Given the description of an element on the screen output the (x, y) to click on. 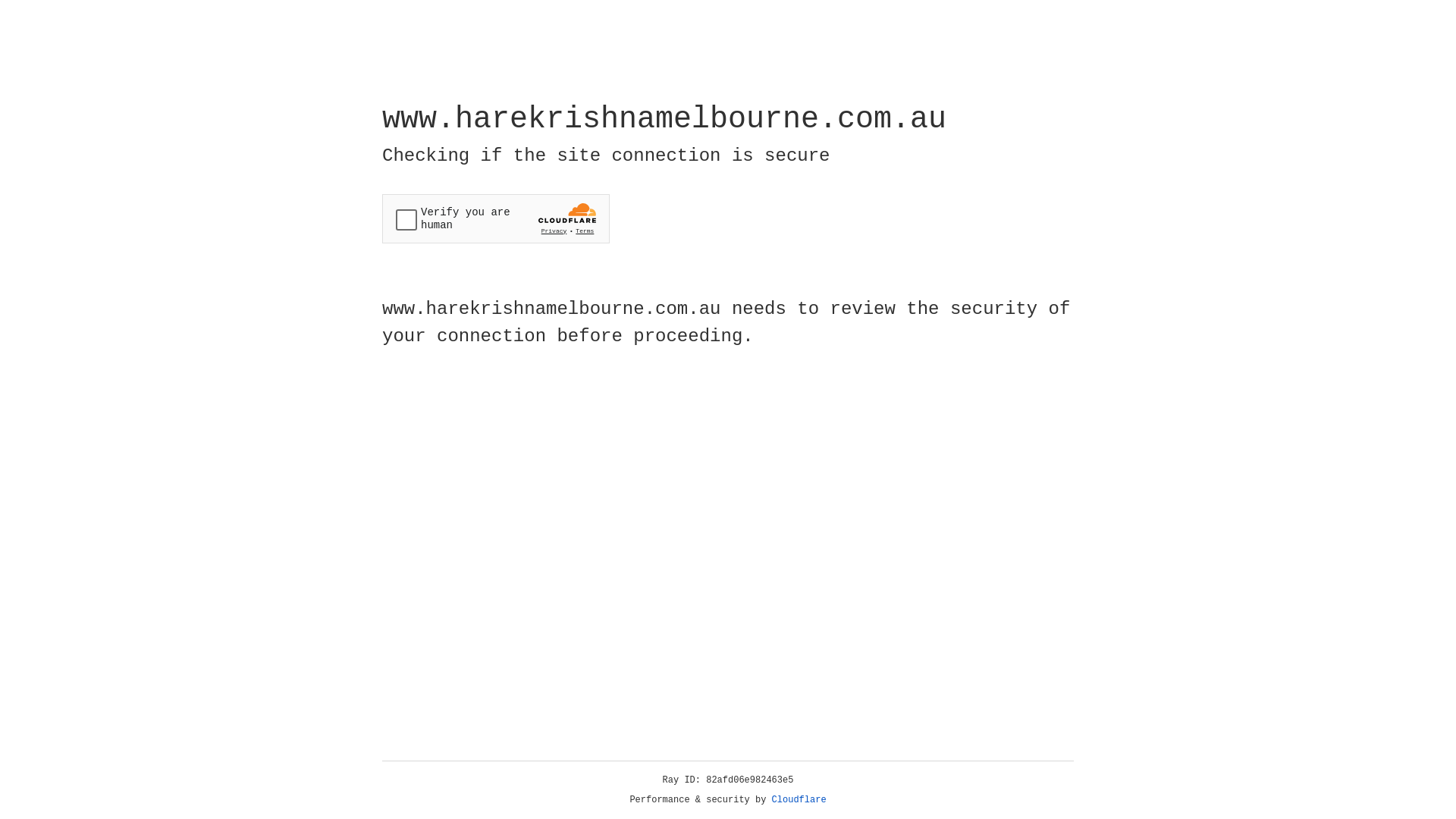
Widget containing a Cloudflare security challenge Element type: hover (495, 218)
Cloudflare Element type: text (798, 799)
